Given the description of an element on the screen output the (x, y) to click on. 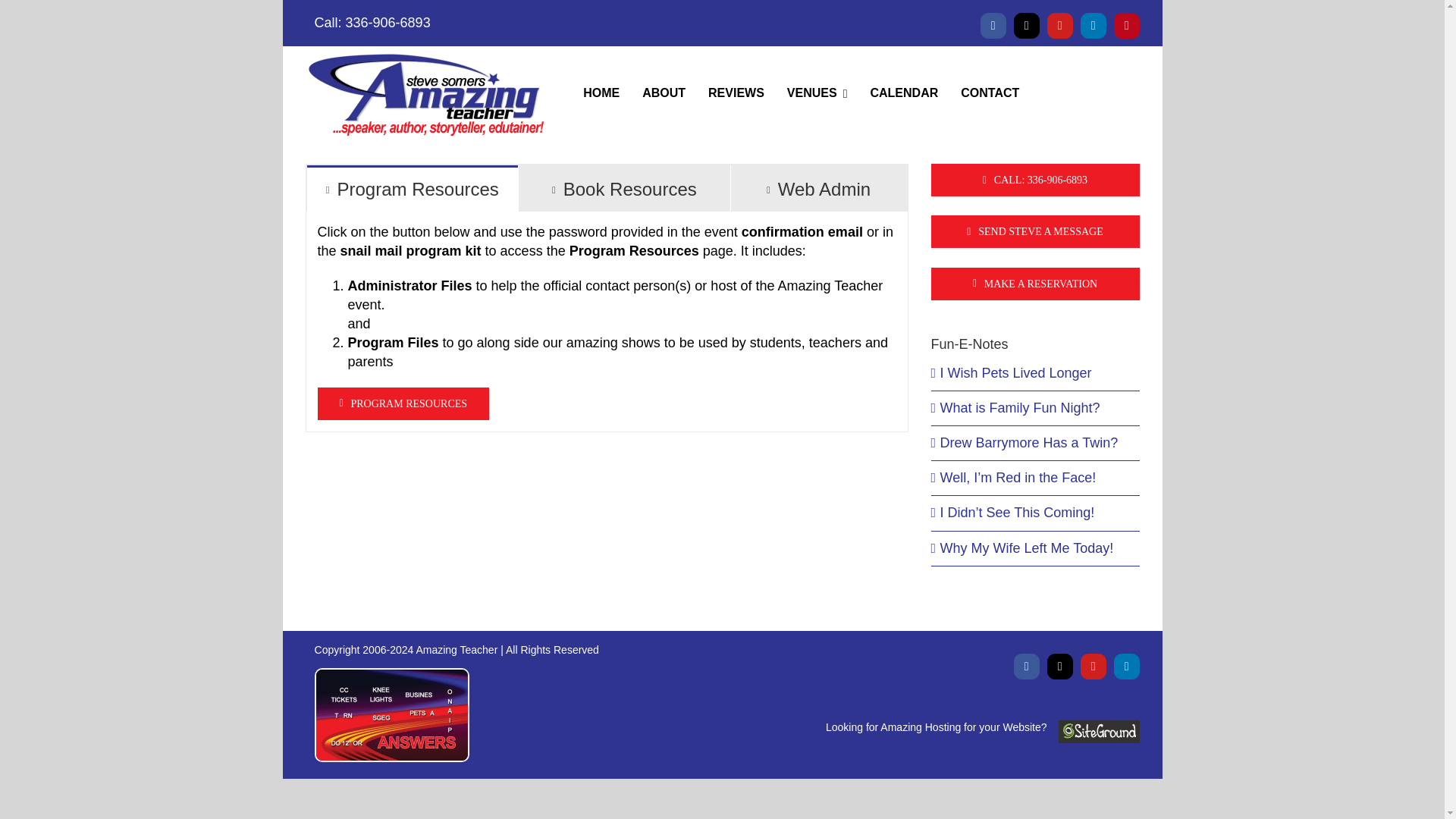
Call Us! (1035, 179)
SEND STEVE A MESSAGE (1035, 231)
I Wish Pets Lived Longer (1016, 372)
ABOUT (663, 93)
REVIEWS (735, 93)
Call: 336-906-6893 (721, 22)
Send A Message (1035, 231)
PROGRAM RESOURCES (403, 402)
Why My Wife Left Me Today! (721, 92)
